Given the description of an element on the screen output the (x, y) to click on. 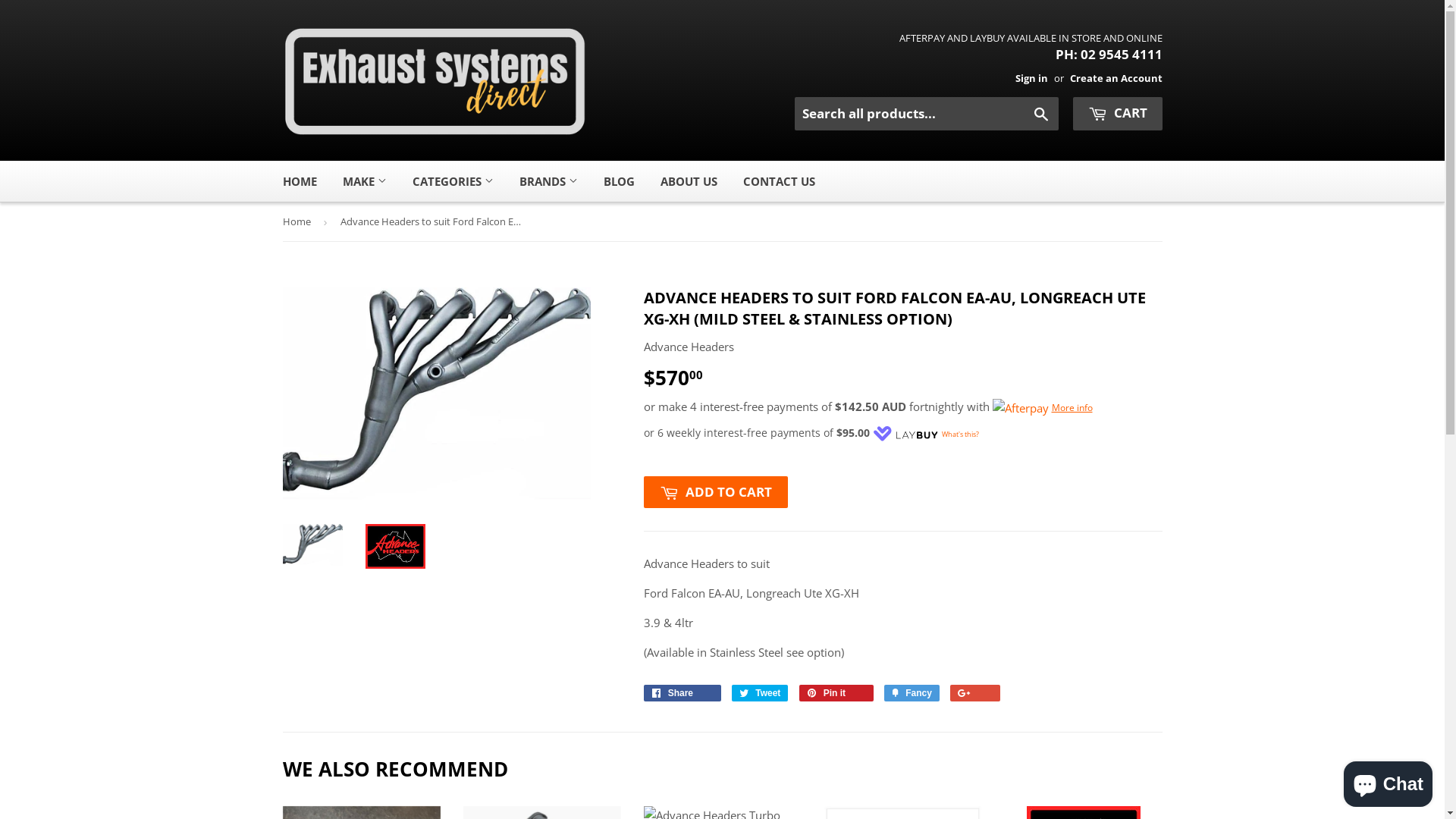
CONTACT US Element type: text (778, 180)
02 9545 4111 Element type: text (1120, 53)
Create an Account Element type: text (1115, 77)
Pin it Element type: text (836, 692)
Sign in Element type: text (1030, 77)
CATEGORIES Element type: text (452, 180)
Tweet Element type: text (759, 692)
Shopify online store chat Element type: hover (1388, 780)
CART Element type: text (1116, 113)
More info Element type: text (1041, 407)
BRANDS Element type: text (548, 180)
ABOUT US Element type: text (688, 180)
MAKE Element type: text (363, 180)
What's this? Element type: text (960, 434)
HOME Element type: text (299, 180)
ADD TO CART Element type: text (715, 492)
Fancy Element type: text (911, 692)
Search Element type: text (1040, 114)
Home Element type: text (298, 221)
BLOG Element type: text (618, 180)
Share Element type: text (681, 692)
